Given the description of an element on the screen output the (x, y) to click on. 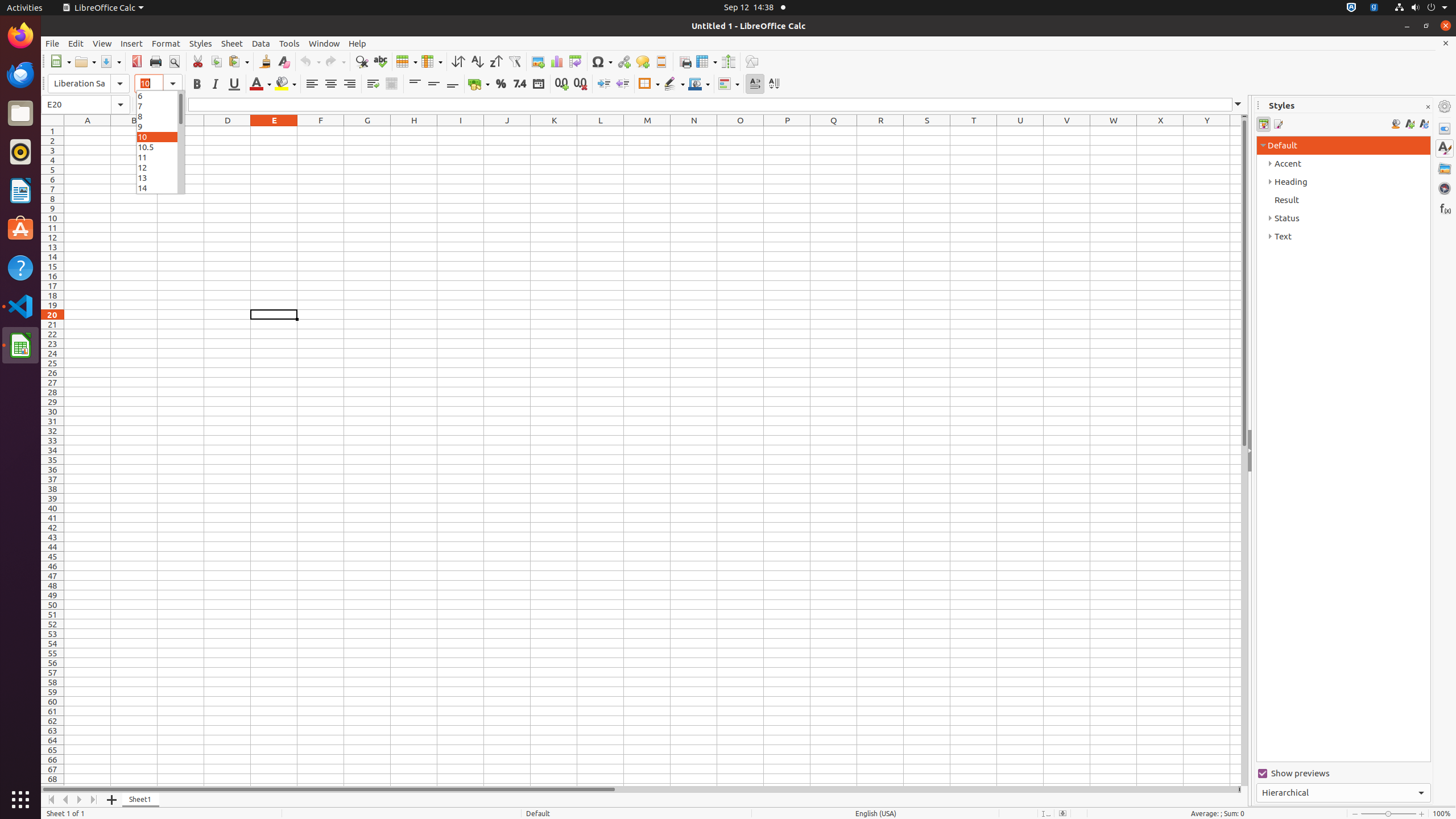
Clear Element type: push-button (283, 61)
Files Element type: push-button (20, 113)
Symbol Element type: push-button (601, 61)
Name Box Element type: combo-box (85, 104)
Bold Element type: toggle-button (196, 83)
